Given the description of an element on the screen output the (x, y) to click on. 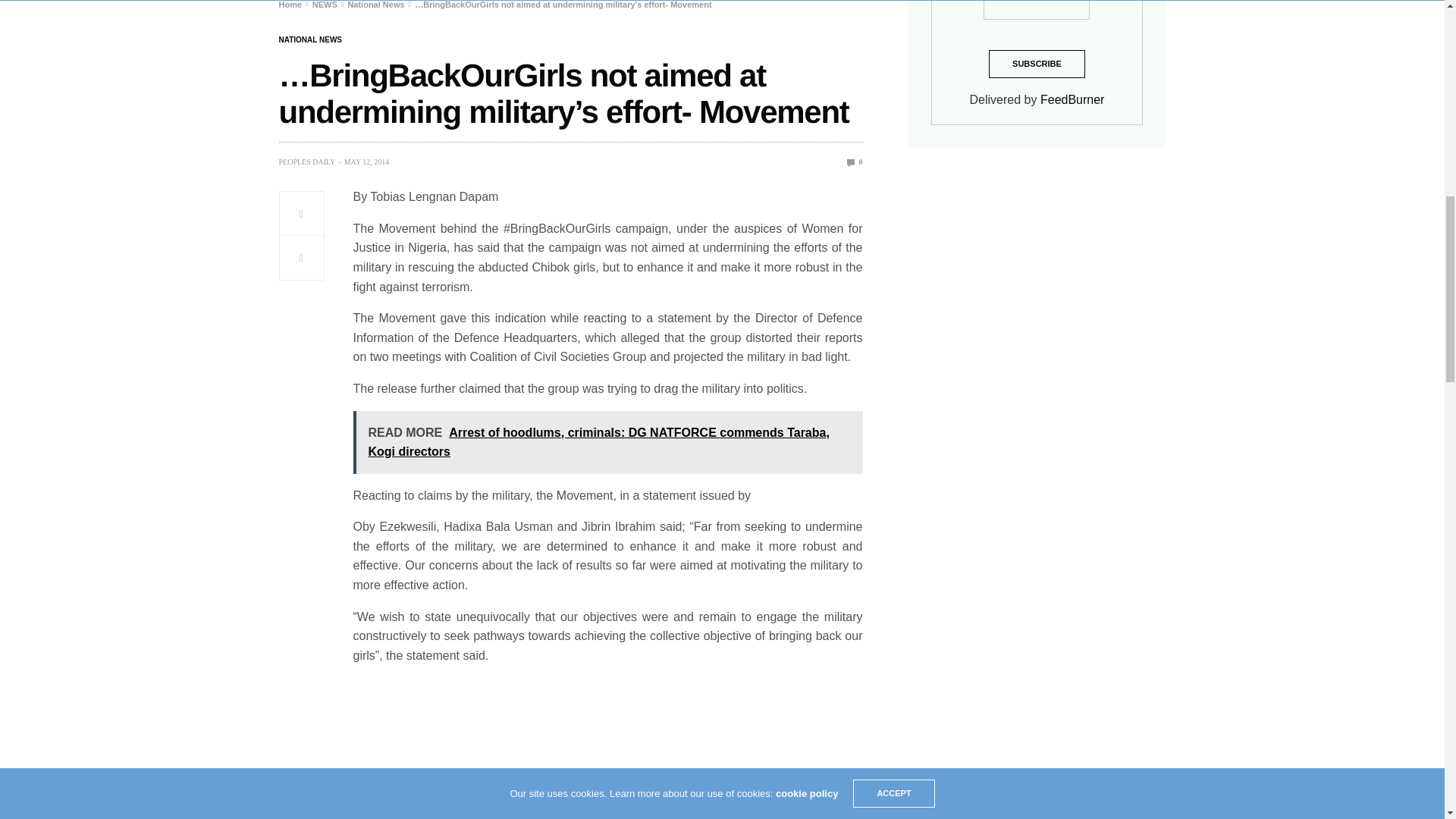
0 (855, 162)
Home (290, 4)
PEOPLES DAILY (307, 162)
Posts by Peoples Daily (307, 162)
National News (375, 4)
NATIONAL NEWS (310, 40)
NEWS (325, 4)
National News (310, 40)
Subscribe (1036, 63)
